Given the description of an element on the screen output the (x, y) to click on. 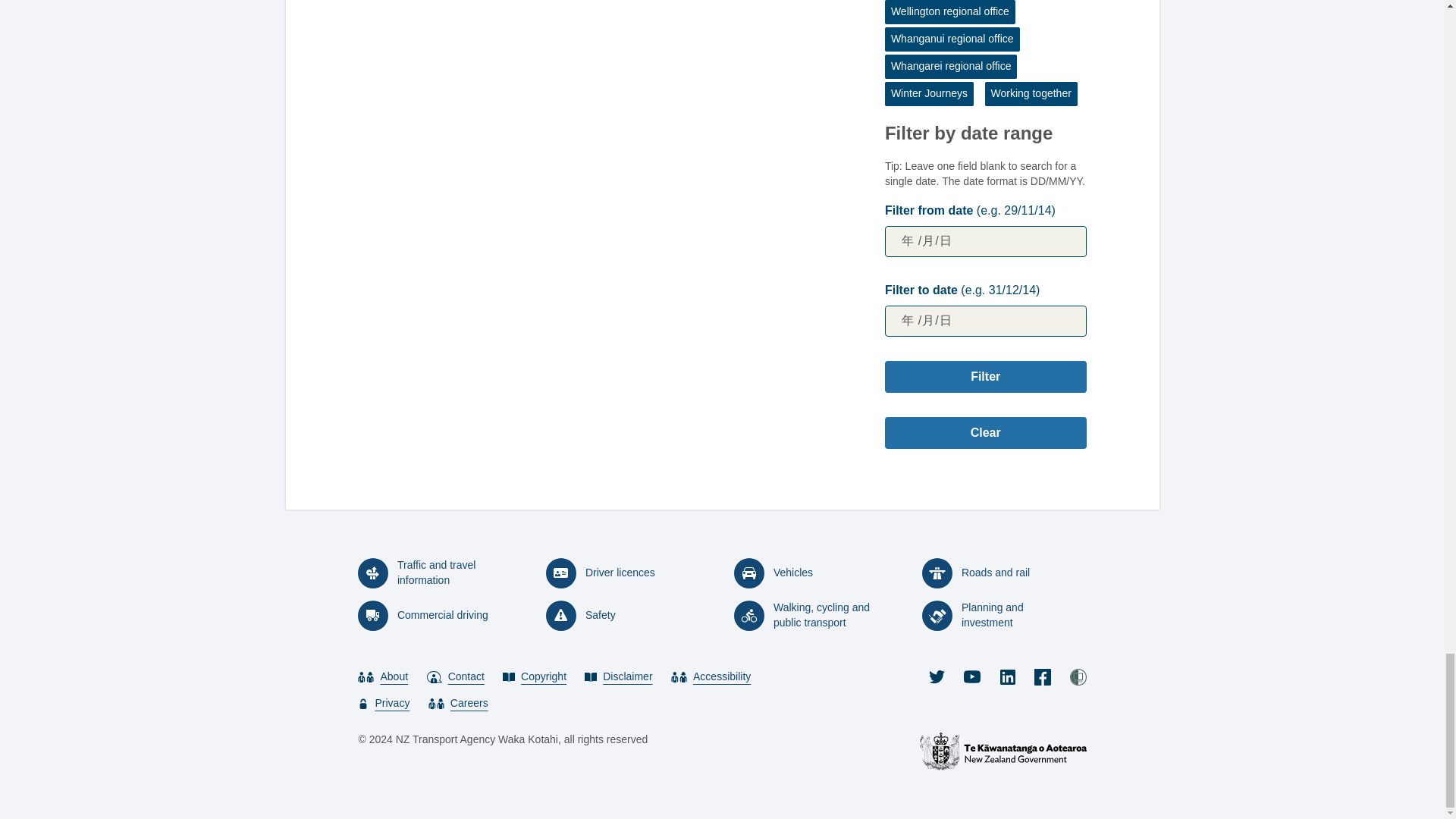
Clear (985, 432)
Filter (985, 377)
